Given the description of an element on the screen output the (x, y) to click on. 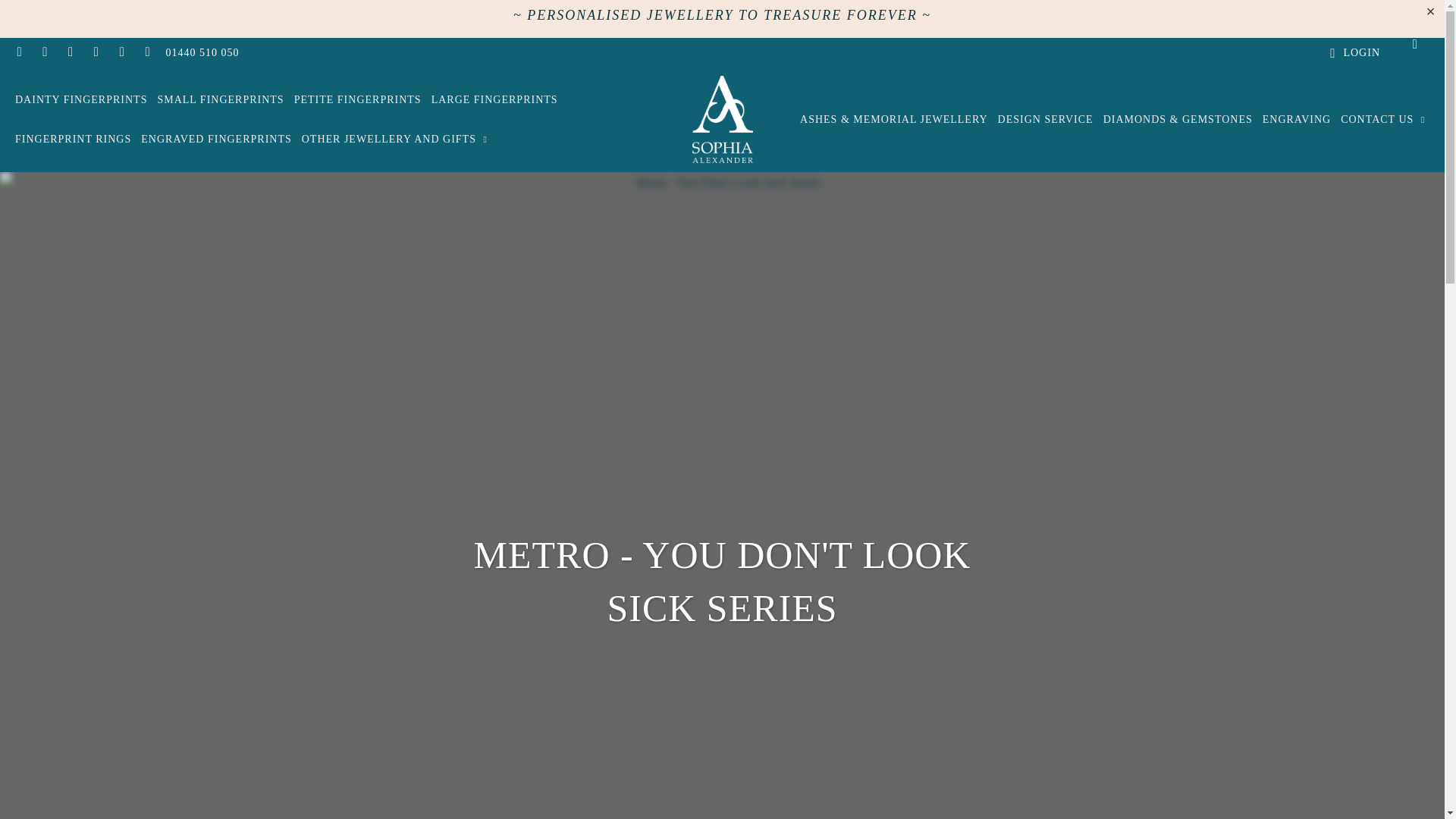
Sophia Alexander Gold Fingerprint Jewellery on Pinterest (95, 52)
Sophia Alexander Gold Fingerprint Jewellery on Twitter (18, 52)
My Account  (1352, 52)
Sophia Alexander Gold Fingerprint Jewellery on YouTube (70, 52)
Sophia Alexander Gold Fingerprint Jewellery on Instagram (121, 52)
Email Sophia Alexander Gold Fingerprint Jewellery (146, 52)
Sophia Alexander Gold Fingerprint Jewellery on Facebook (44, 52)
Sophia Alexander Gold Fingerprint Jewellery (721, 120)
